Given the description of an element on the screen output the (x, y) to click on. 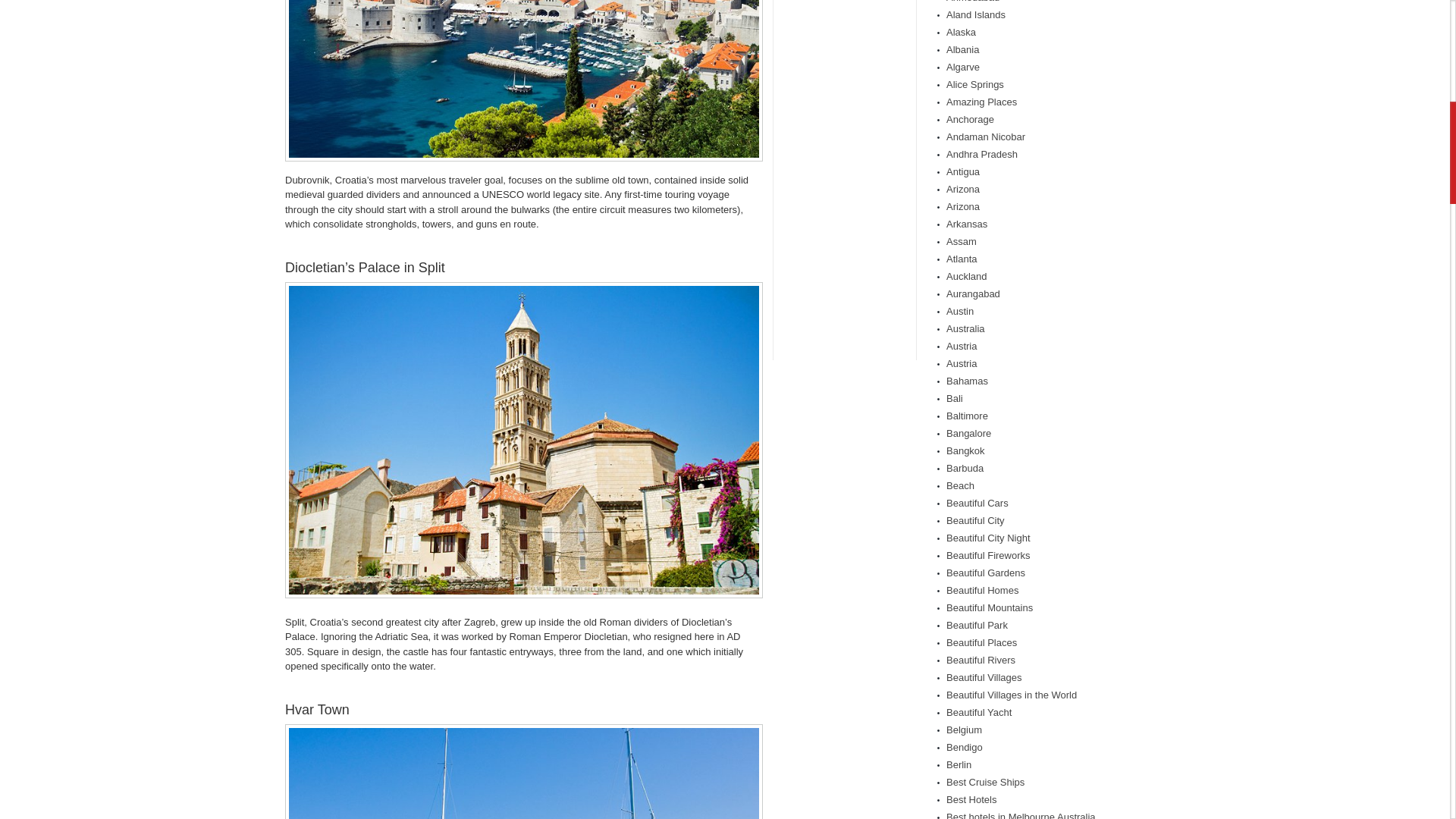
Algarve (962, 66)
Ahmedabad (972, 1)
Alaska (960, 31)
Advertisement (844, 165)
Aland Islands (976, 14)
Alice Springs (975, 84)
Albania (962, 49)
